Given the description of an element on the screen output the (x, y) to click on. 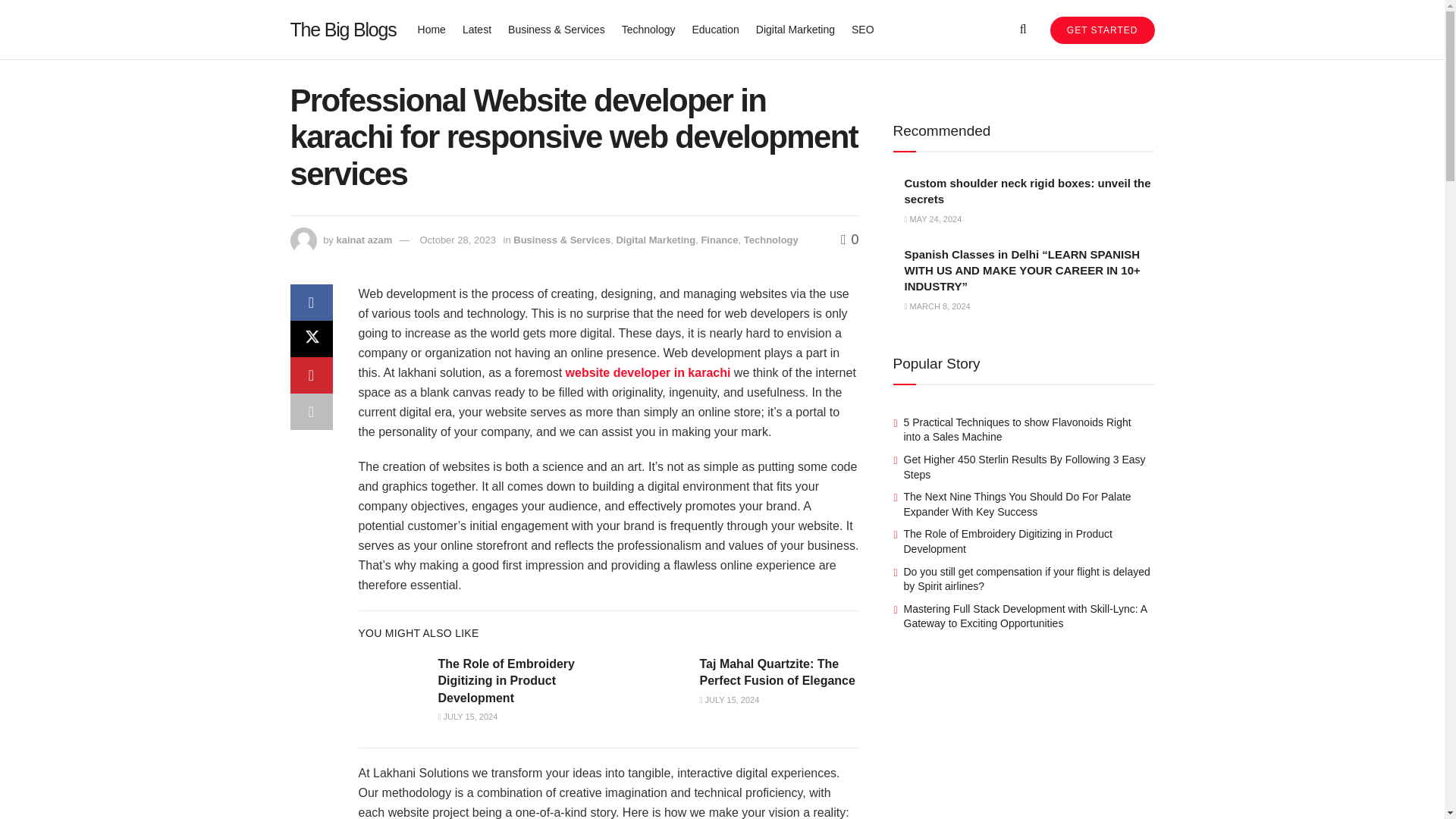
SEO (863, 29)
Technology (648, 29)
Digital Marketing (794, 29)
GET STARTED (1101, 30)
0 (850, 239)
October 28, 2023 (457, 239)
website developer in karachi (647, 372)
Finance (719, 239)
Technology (770, 239)
kainat azam (363, 239)
Home (431, 29)
Education (714, 29)
Digital Marketing (655, 239)
Latest (477, 29)
The Big Blogs (342, 28)
